Given the description of an element on the screen output the (x, y) to click on. 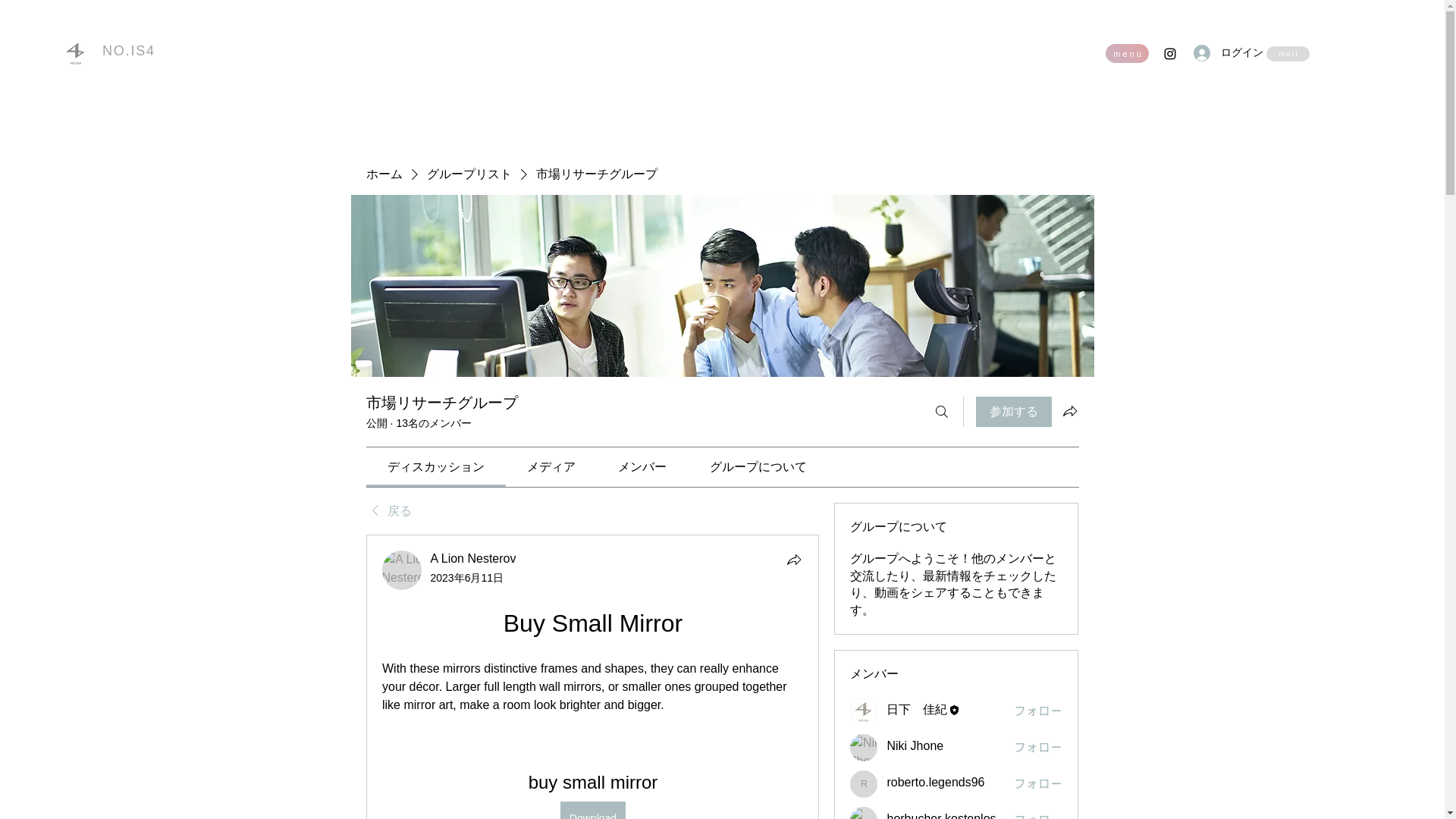
m a i l (1287, 53)
m e n u (1126, 53)
roberto.legends96 (863, 783)
A Lion Nesterov (473, 558)
Niki Jhone (914, 745)
A Lion Nesterov (401, 569)
horbucher kostenlos (940, 815)
Download (591, 810)
Niki Jhone (863, 747)
roberto.legends96 (935, 781)
horbucher kostenlos (863, 812)
NO.IS4 (128, 50)
